Given the description of an element on the screen output the (x, y) to click on. 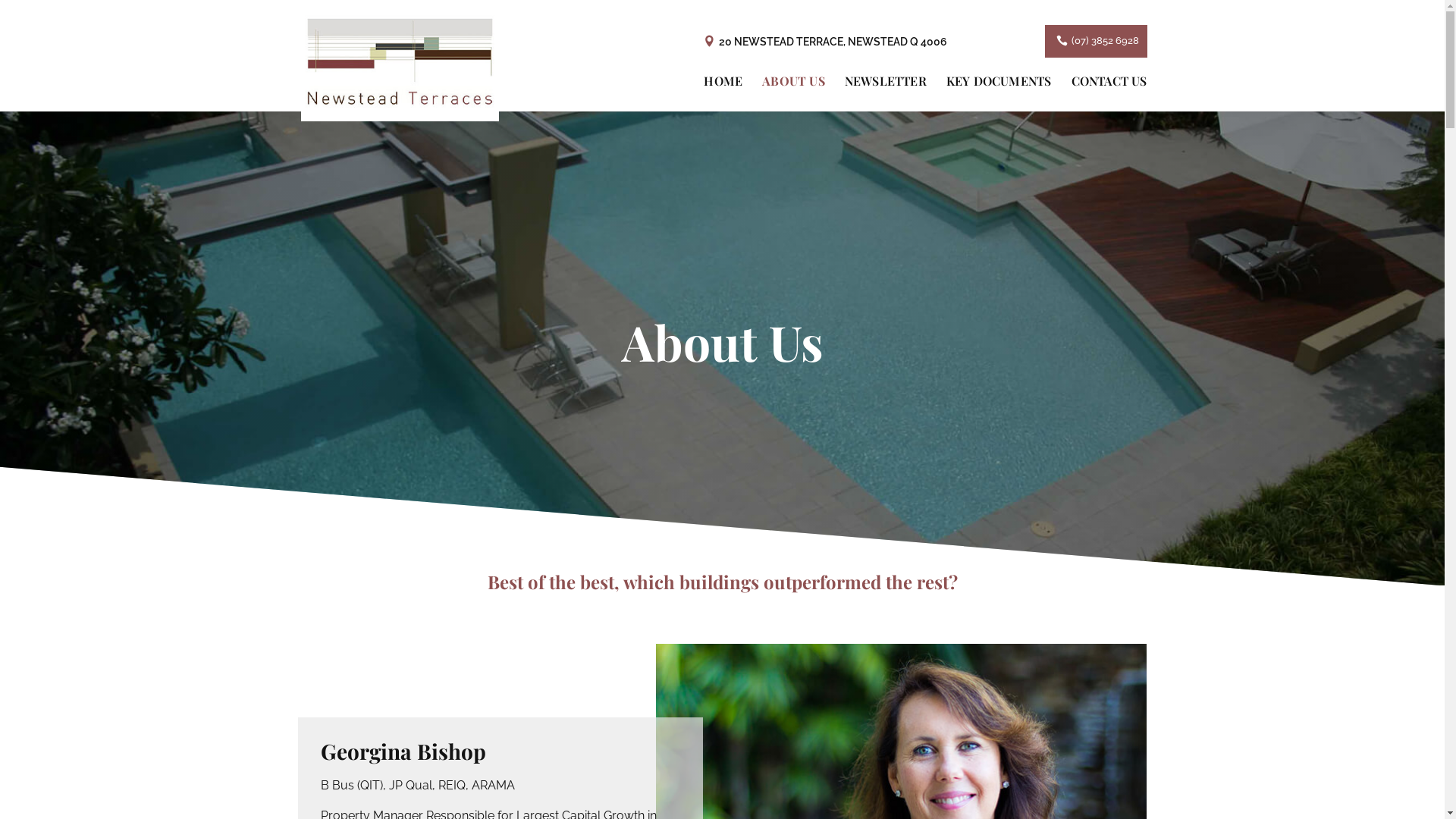
KEY DOCUMENTS Element type: text (998, 93)
NEWSLETTER Element type: text (885, 93)
ABOUT US Element type: text (793, 93)
CONTACT US Element type: text (1108, 93)
HOME Element type: text (722, 93)
(07) 3852 6928 Element type: text (1095, 41)
